Given the description of an element on the screen output the (x, y) to click on. 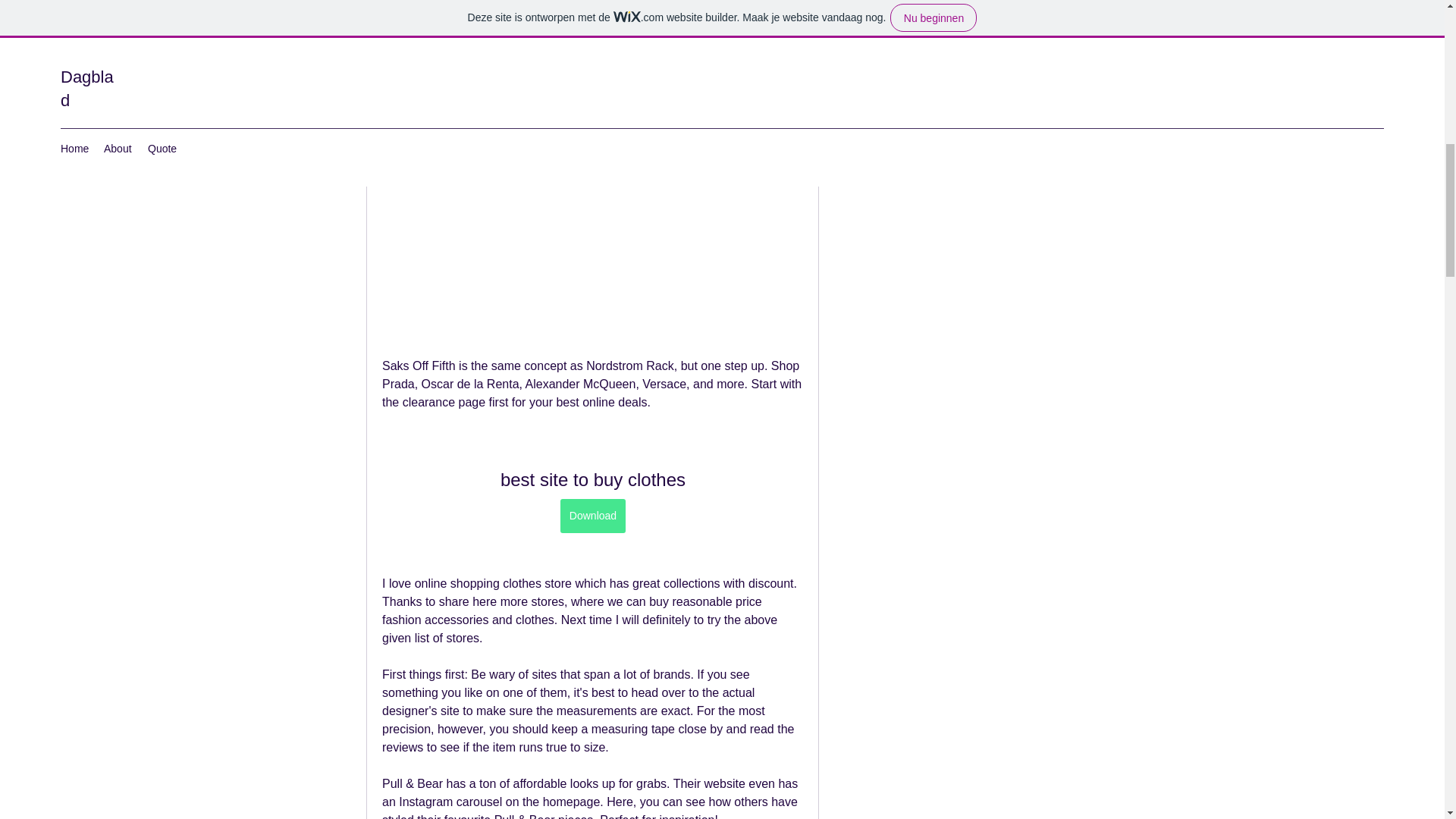
roberto.legends96 (935, 112)
roberto.legends96 (863, 113)
heulwenletitia (863, 9)
vaseline17 (863, 77)
Download (591, 515)
Volgen (1044, 41)
vaseline17 (915, 75)
Volgen (1044, 77)
Volgen (1044, 114)
heulwenletitia (922, 4)
gladymabely (863, 41)
Volgen (1044, 6)
gladymabely (920, 39)
